Given the description of an element on the screen output the (x, y) to click on. 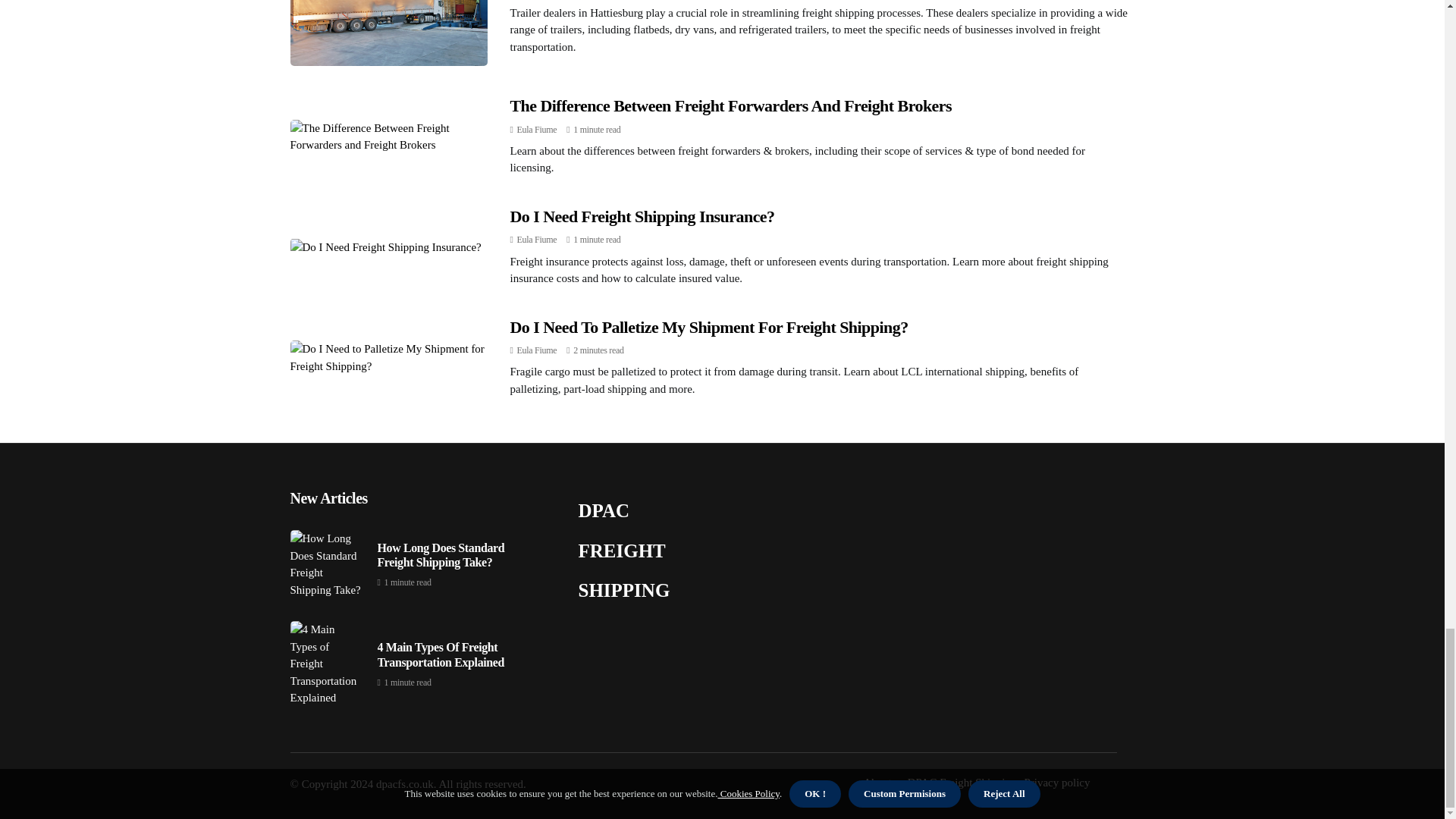
Posts by Eula Fiume (536, 349)
Posts by Eula Fiume (536, 239)
Eula Fiume (536, 239)
Do I Need To Palletize My Shipment For Freight Shipping? (708, 326)
Do I Need Freight Shipping Insurance? (641, 216)
Eula Fiume (536, 349)
Posts by Eula Fiume (536, 129)
Eula Fiume (536, 129)
